Given the description of an element on the screen output the (x, y) to click on. 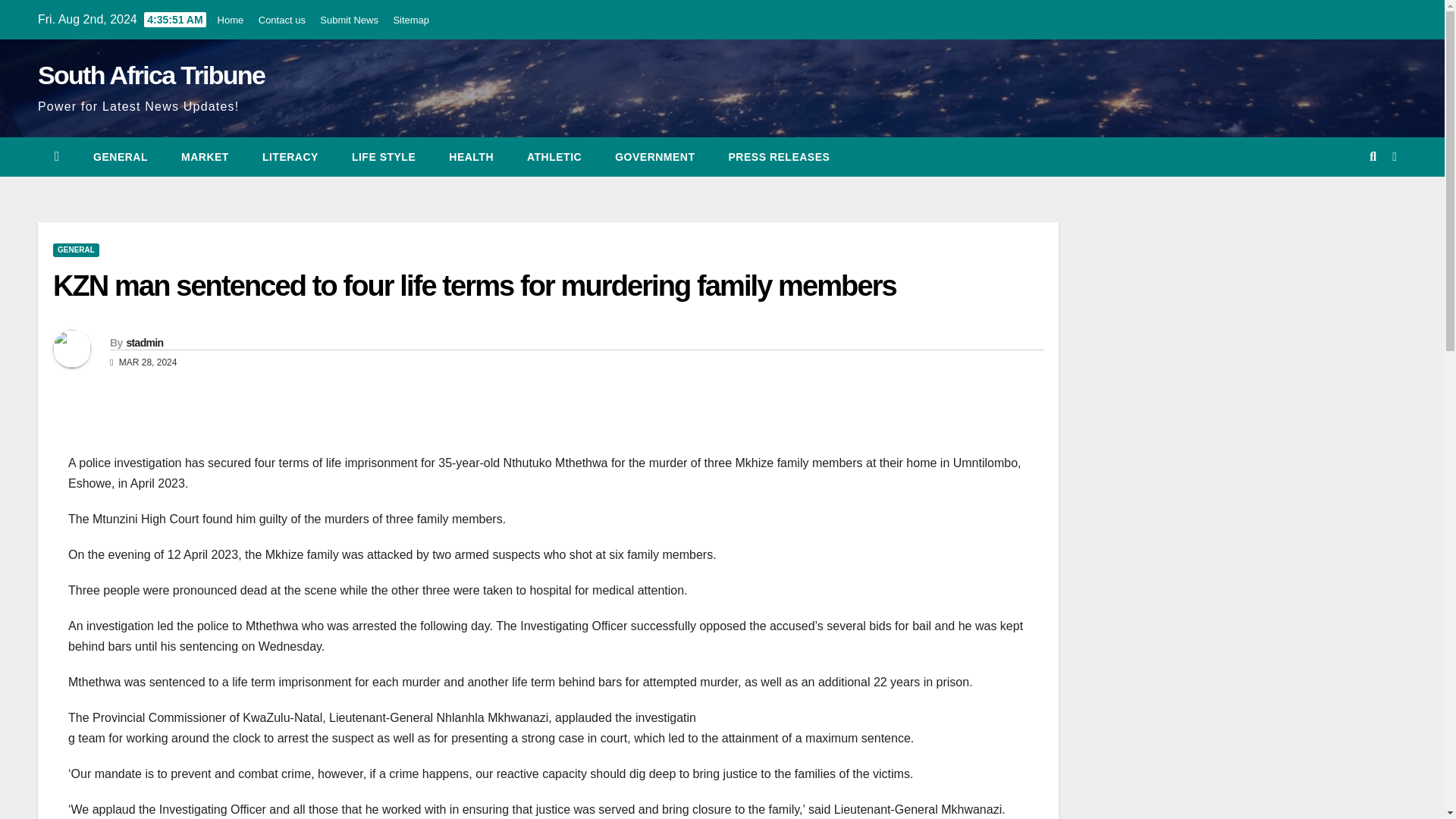
Literacy (290, 156)
LITERACY (290, 156)
Press Releases (779, 156)
Submit News (349, 19)
Government (654, 156)
GENERAL (120, 156)
GOVERNMENT (654, 156)
Home (230, 19)
Athletic (554, 156)
LIFE STYLE (383, 156)
Contact us (282, 19)
MARKET (205, 156)
South Africa Tribune (150, 74)
General (120, 156)
